Given the description of an element on the screen output the (x, y) to click on. 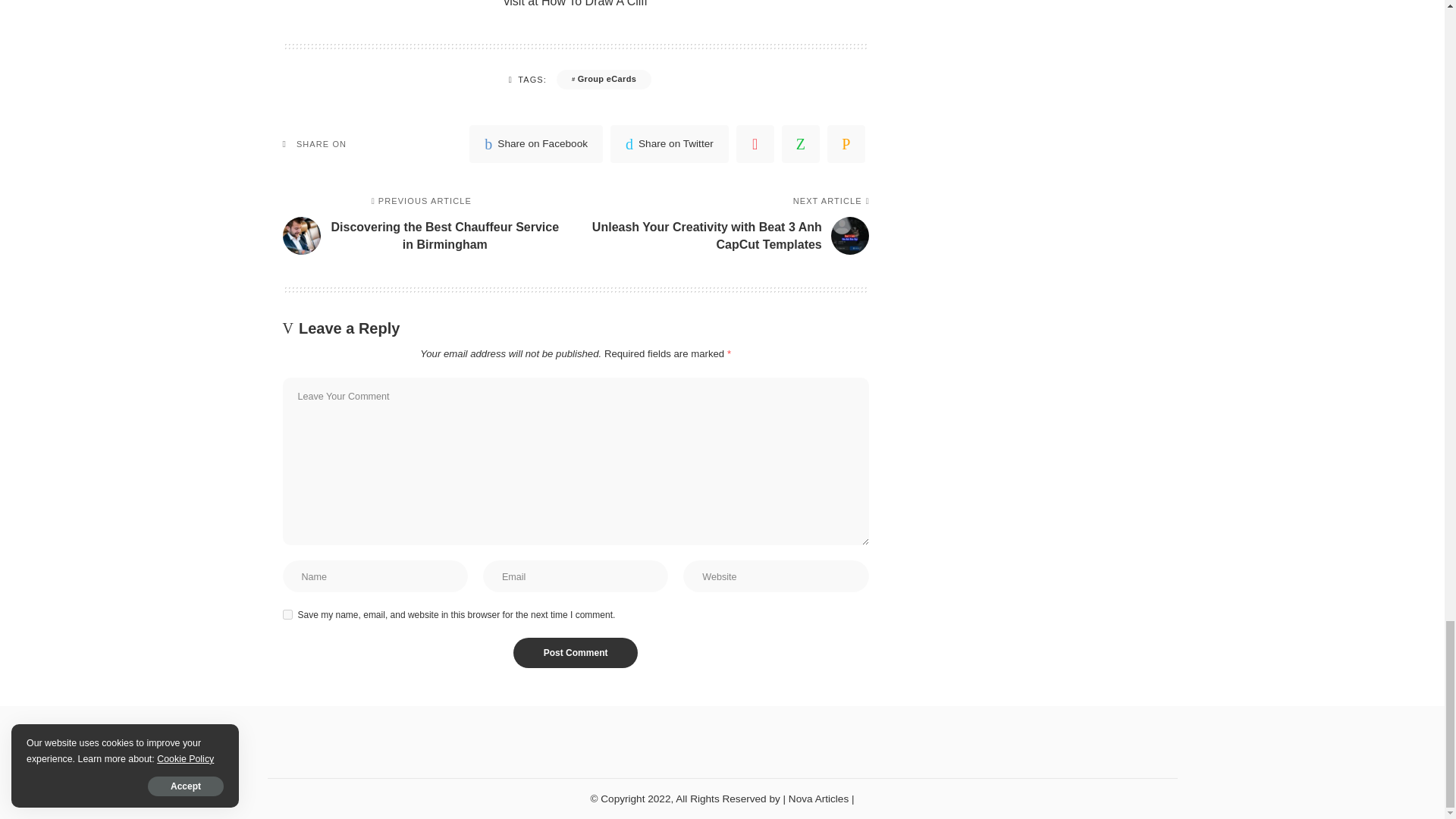
yes (287, 614)
Post Comment (576, 653)
